Given the description of an element on the screen output the (x, y) to click on. 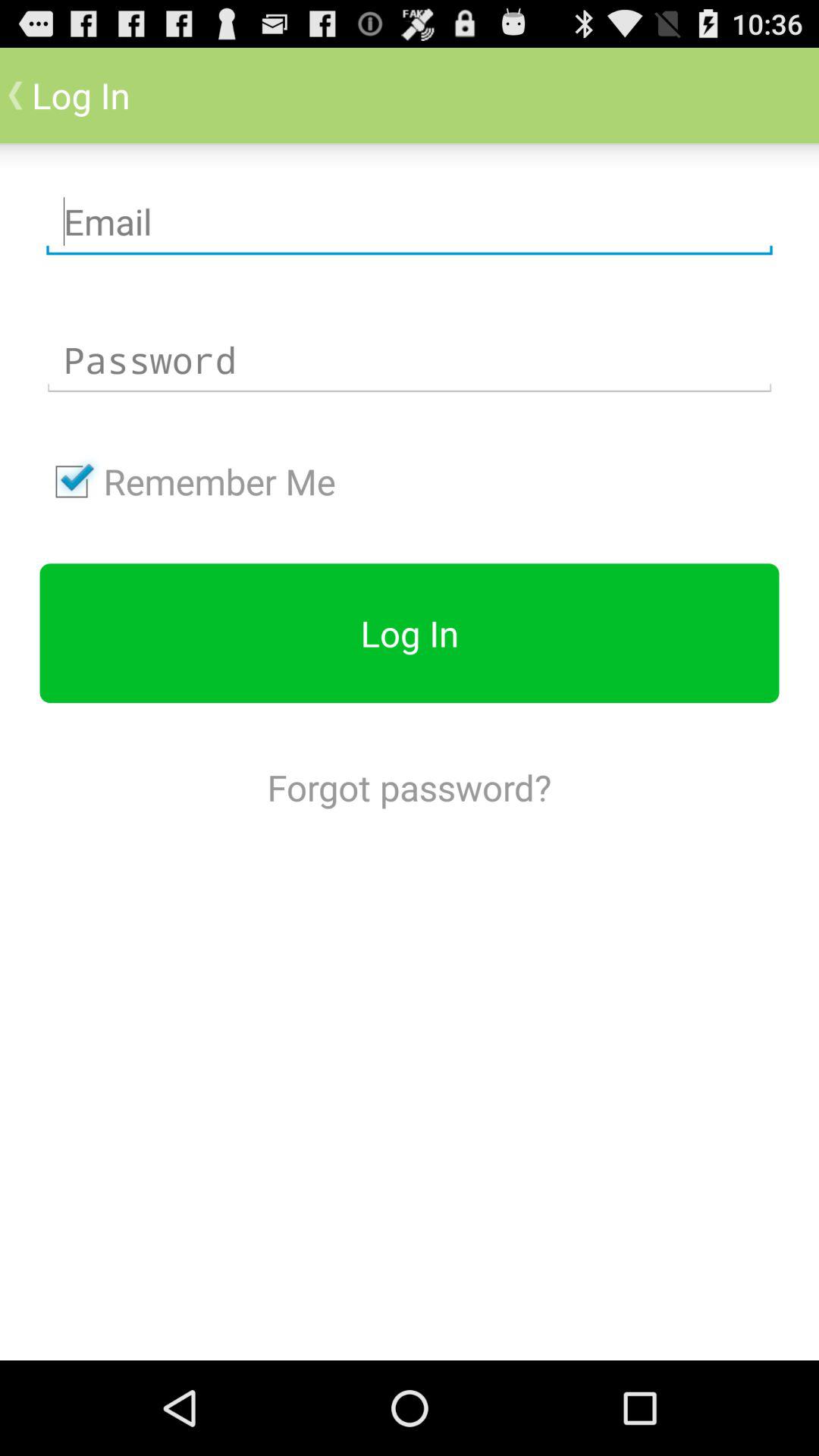
flip to the remember me item (187, 481)
